Given the description of an element on the screen output the (x, y) to click on. 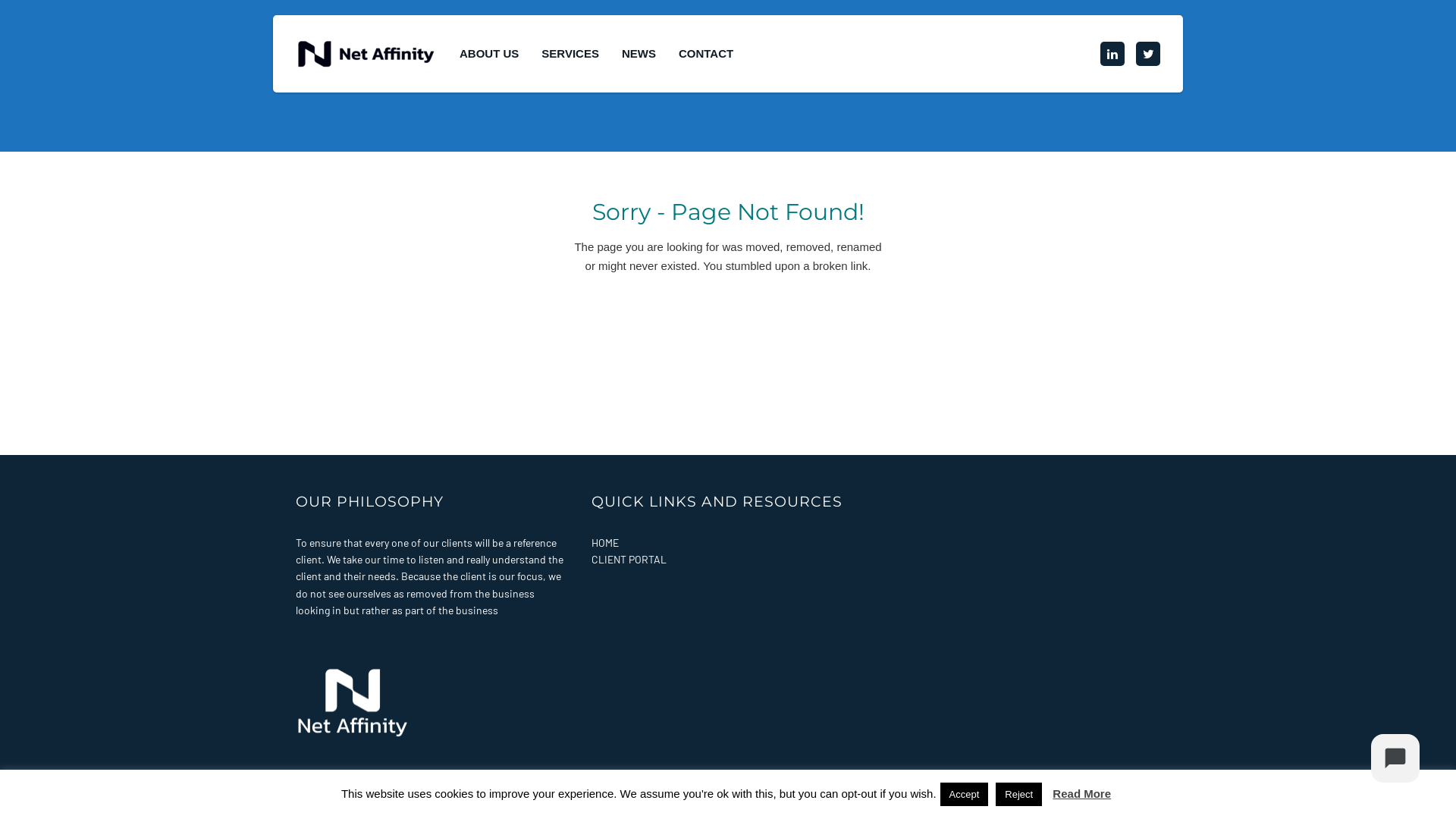
Reject Element type: text (1018, 794)
Accept Element type: text (964, 794)
CLIENT PORTAL Element type: text (628, 558)
NEWS Element type: text (638, 53)
SERVICES Element type: text (570, 53)
HOME Element type: text (604, 542)
CONTACT Element type: text (705, 53)
Read More Element type: text (1081, 793)
ABOUT US Element type: text (488, 53)
Chatbot Element type: hover (1394, 757)
